Given the description of an element on the screen output the (x, y) to click on. 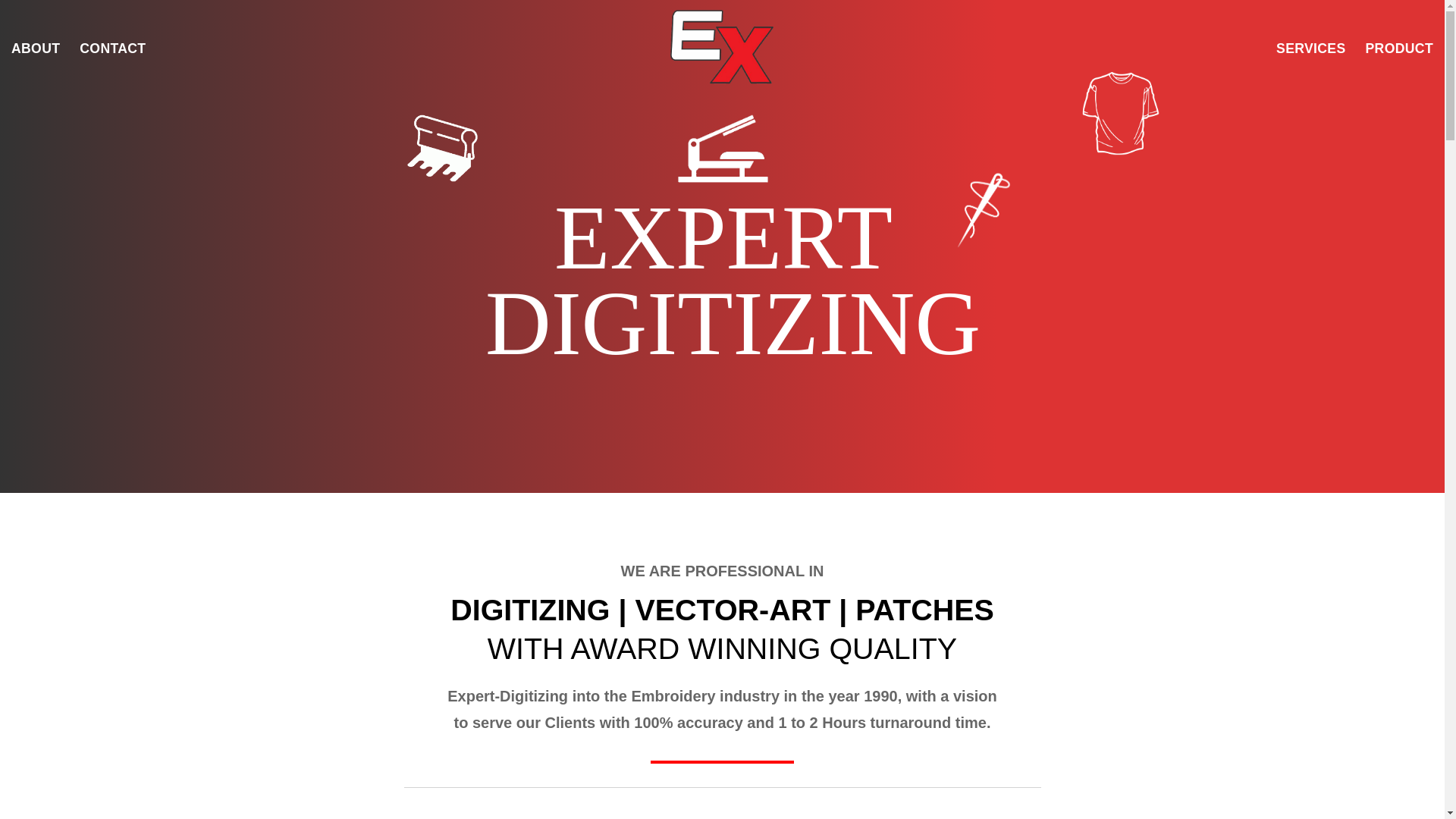
CONTACT (112, 48)
PRODUCT (1398, 48)
SERVICES (1310, 48)
ABOUT (35, 48)
